Given the description of an element on the screen output the (x, y) to click on. 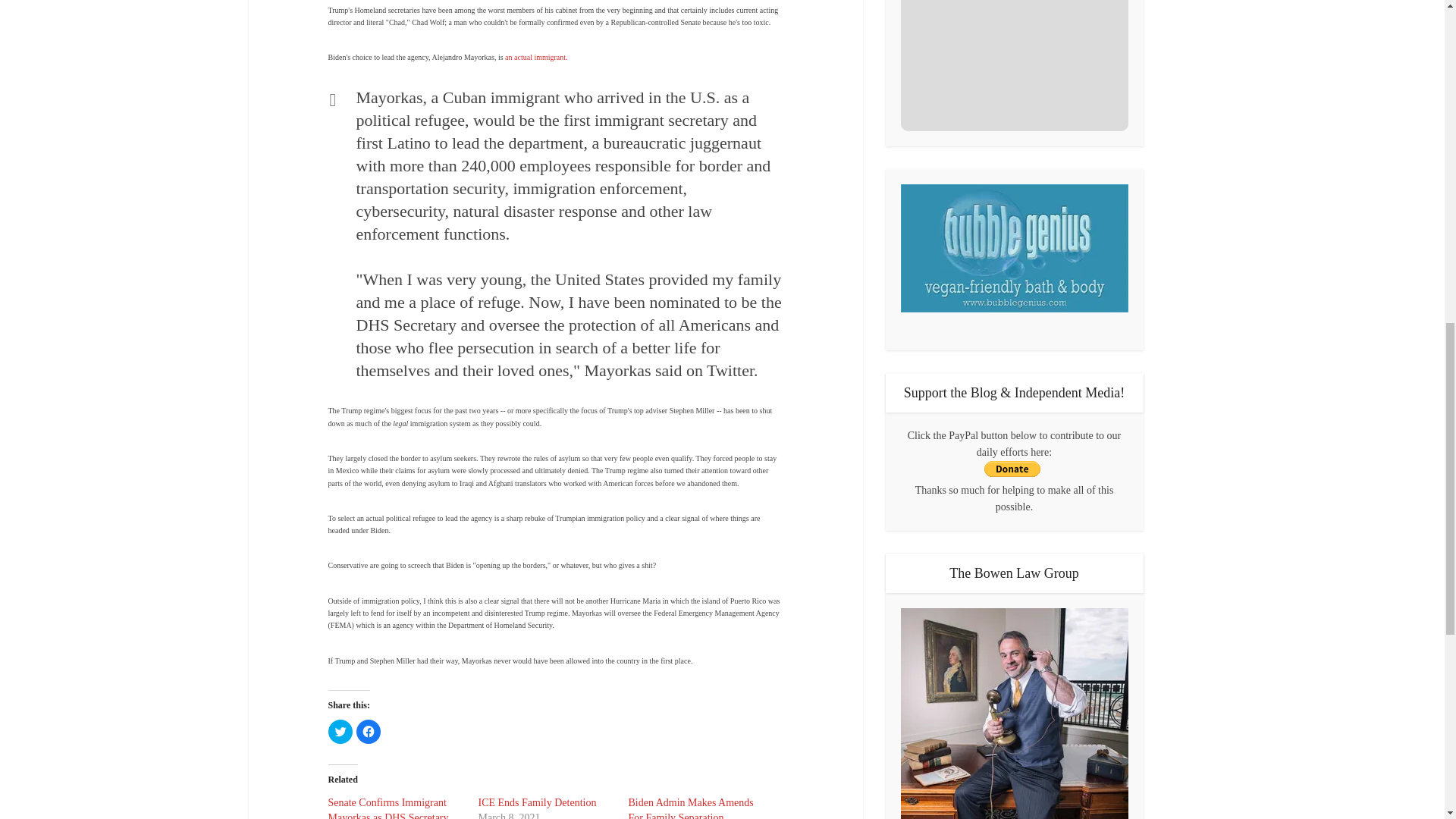
Biden Admin Makes Amends For Family Separation (689, 807)
Click to share on Twitter (339, 731)
ICE Ends Family Detention (536, 802)
Click to share on Facebook (368, 731)
an actual immigrant. (536, 57)
Biden Admin Makes Amends For Family Separation (689, 807)
PayPal - The safer, easier way to pay online! (1012, 468)
Senate Confirms Immigrant Mayorkas as DHS Secretary (387, 807)
Senate Confirms Immigrant Mayorkas as DHS Secretary (387, 807)
ICE Ends Family Detention (536, 802)
